Given the description of an element on the screen output the (x, y) to click on. 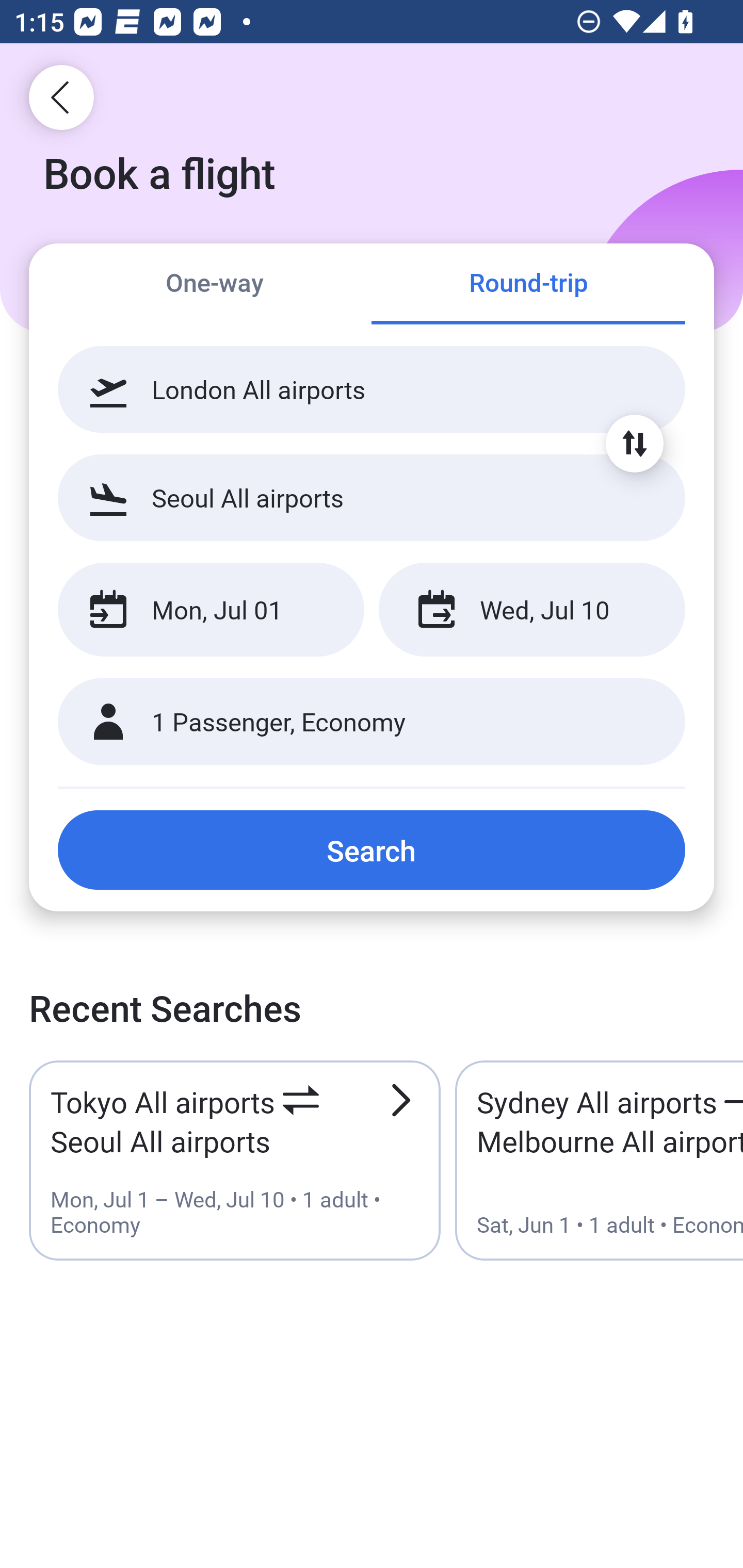
One-way (214, 284)
London All airports (371, 389)
Seoul All airports (371, 497)
Mon, Jul 01 (210, 609)
Wed, Jul 10 (531, 609)
1 Passenger, Economy (371, 721)
Search (371, 849)
